Given the description of an element on the screen output the (x, y) to click on. 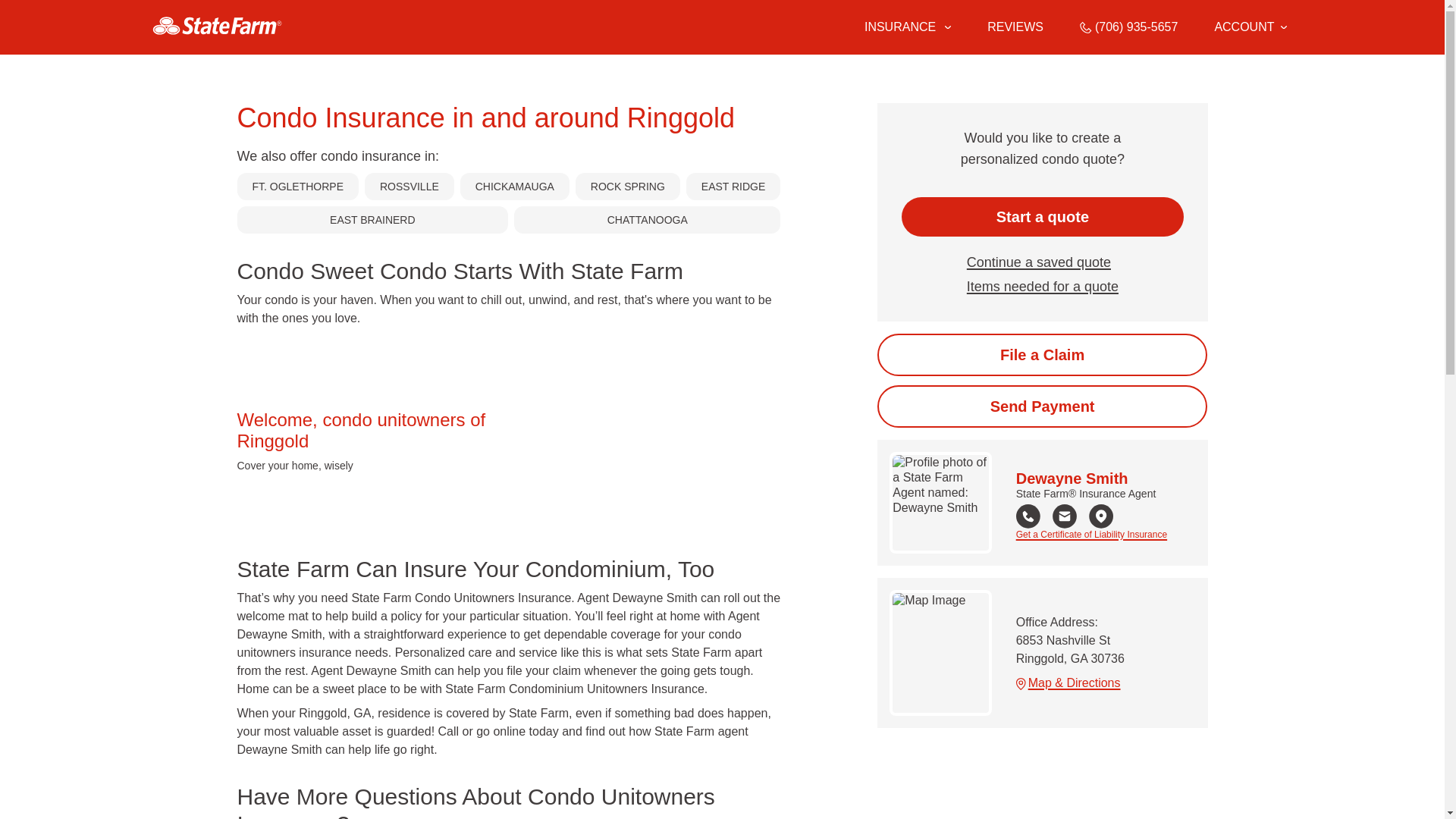
Account Options (1250, 27)
INSURANCE (899, 27)
ACCOUNT (1250, 27)
Start the claim process online (1042, 354)
REVIEWS (1015, 27)
Insurance (907, 27)
